Given the description of an element on the screen output the (x, y) to click on. 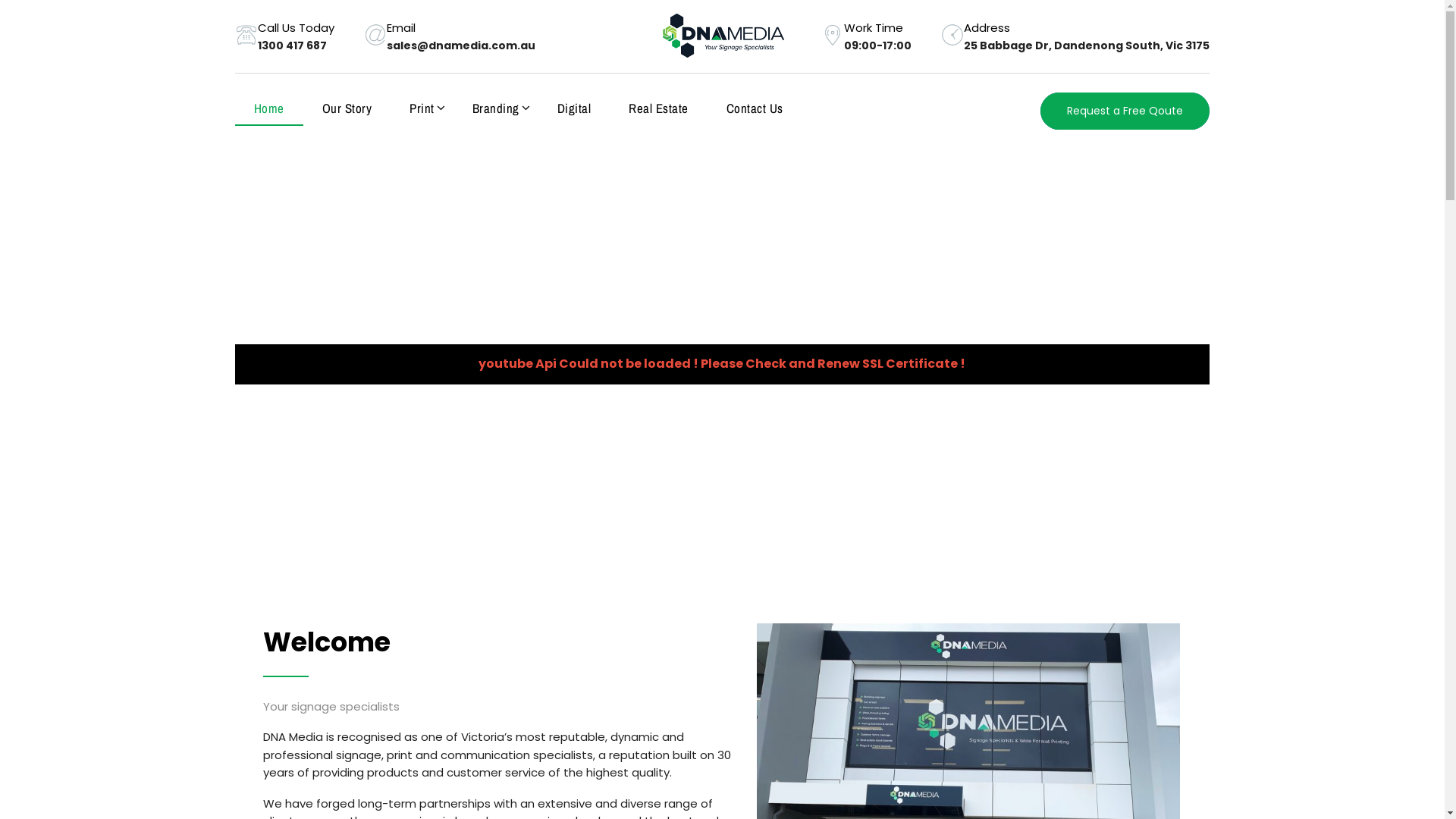
Real Estate Element type: text (658, 108)
Home Element type: text (269, 108)
Our Story Element type: text (347, 108)
Digital Element type: text (574, 108)
Request a Free Qoute Element type: text (1124, 110)
Contact Us Element type: text (754, 108)
DNA Media Element type: hover (722, 36)
Branding Element type: text (495, 108)
Print Element type: text (421, 108)
